Given the description of an element on the screen output the (x, y) to click on. 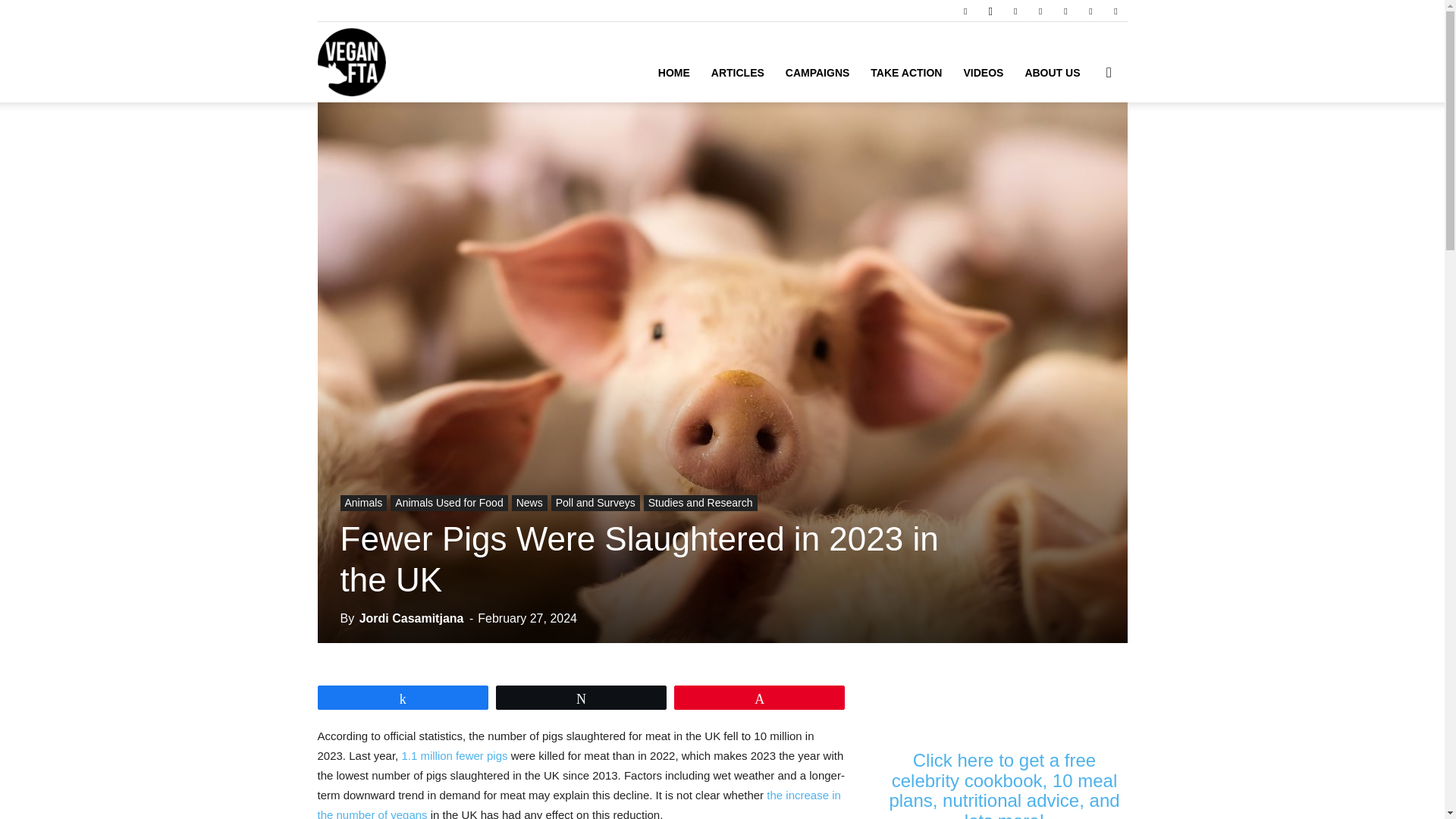
Facebook (964, 10)
Twitter (1090, 10)
Youtube (1114, 10)
Pinterest (1040, 10)
TikTok (1065, 10)
Instagram (989, 10)
Linkedin (1015, 10)
